Given the description of an element on the screen output the (x, y) to click on. 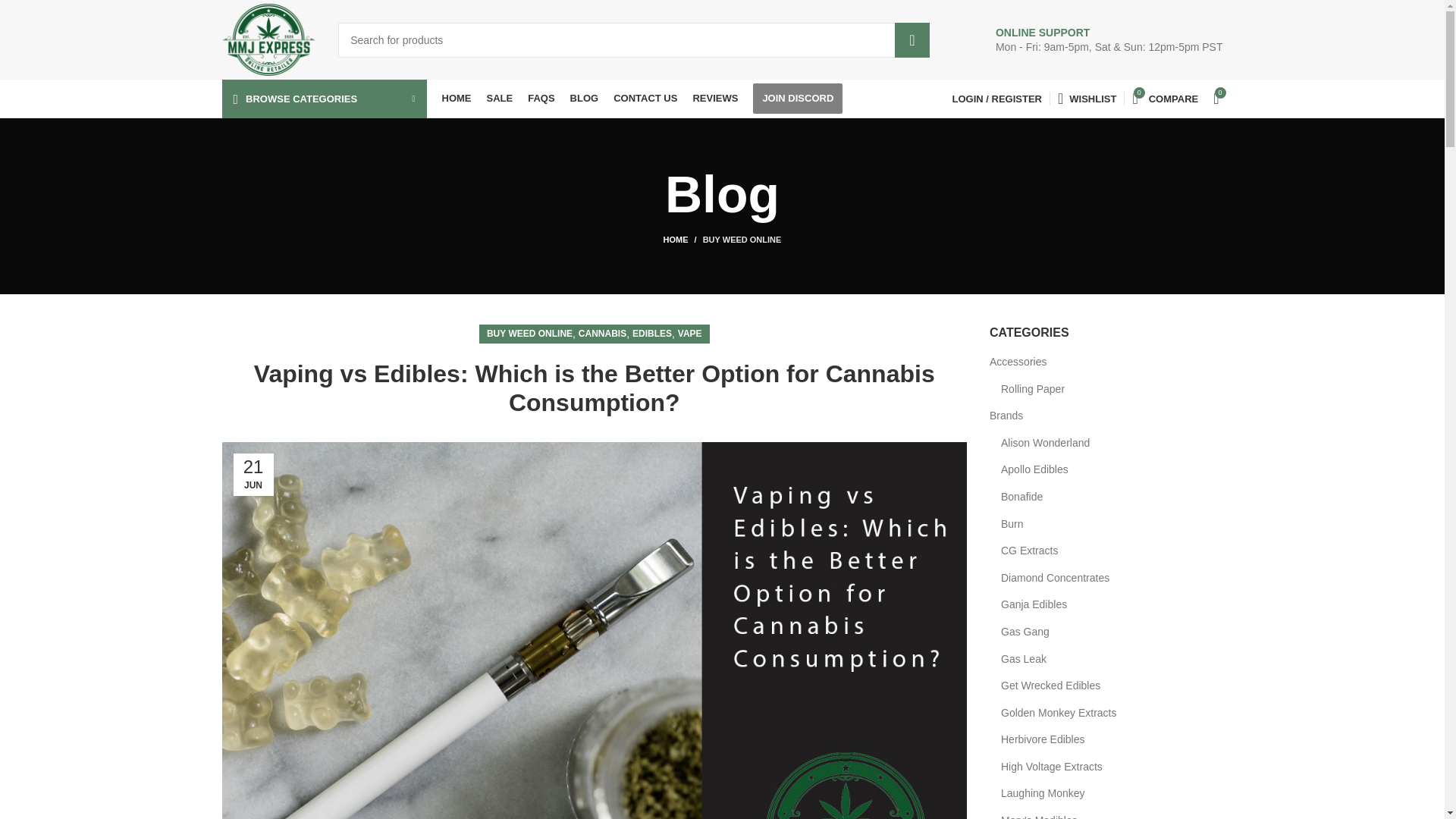
My account (996, 98)
Search for products (633, 39)
Compare products (1164, 98)
My Wishlist (1086, 98)
